Given the description of an element on the screen output the (x, y) to click on. 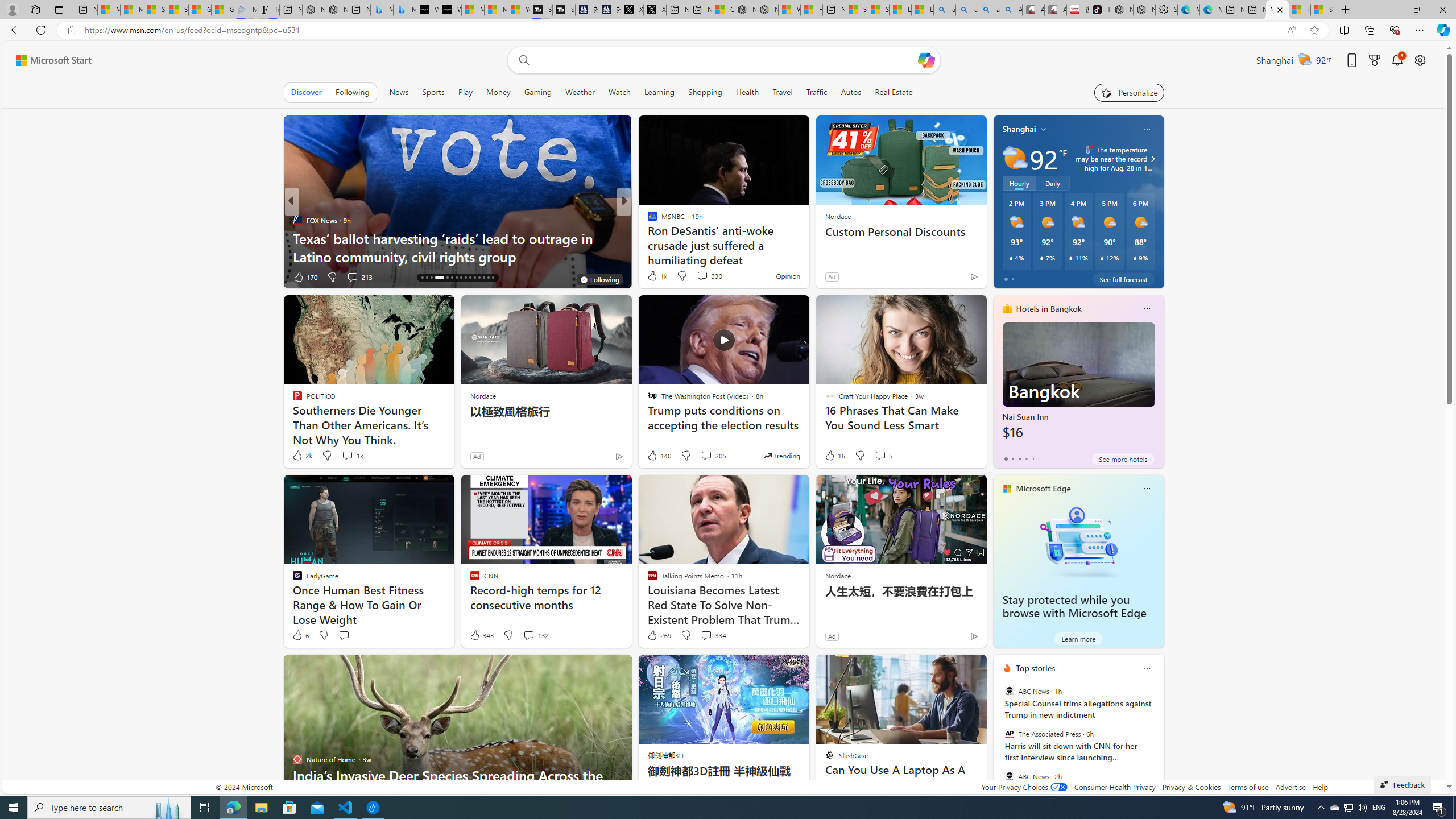
Hide this story (952, 668)
Web search (520, 60)
140 Like (658, 455)
View comments 55 Comment (704, 276)
497 Like (654, 276)
Autos (851, 92)
Traffic (816, 92)
View comments 1 Comment (702, 276)
View comments 334 Comment (705, 635)
Comments turned off for this story (694, 276)
AutomationID: tab-30 (492, 277)
